Given the description of an element on the screen output the (x, y) to click on. 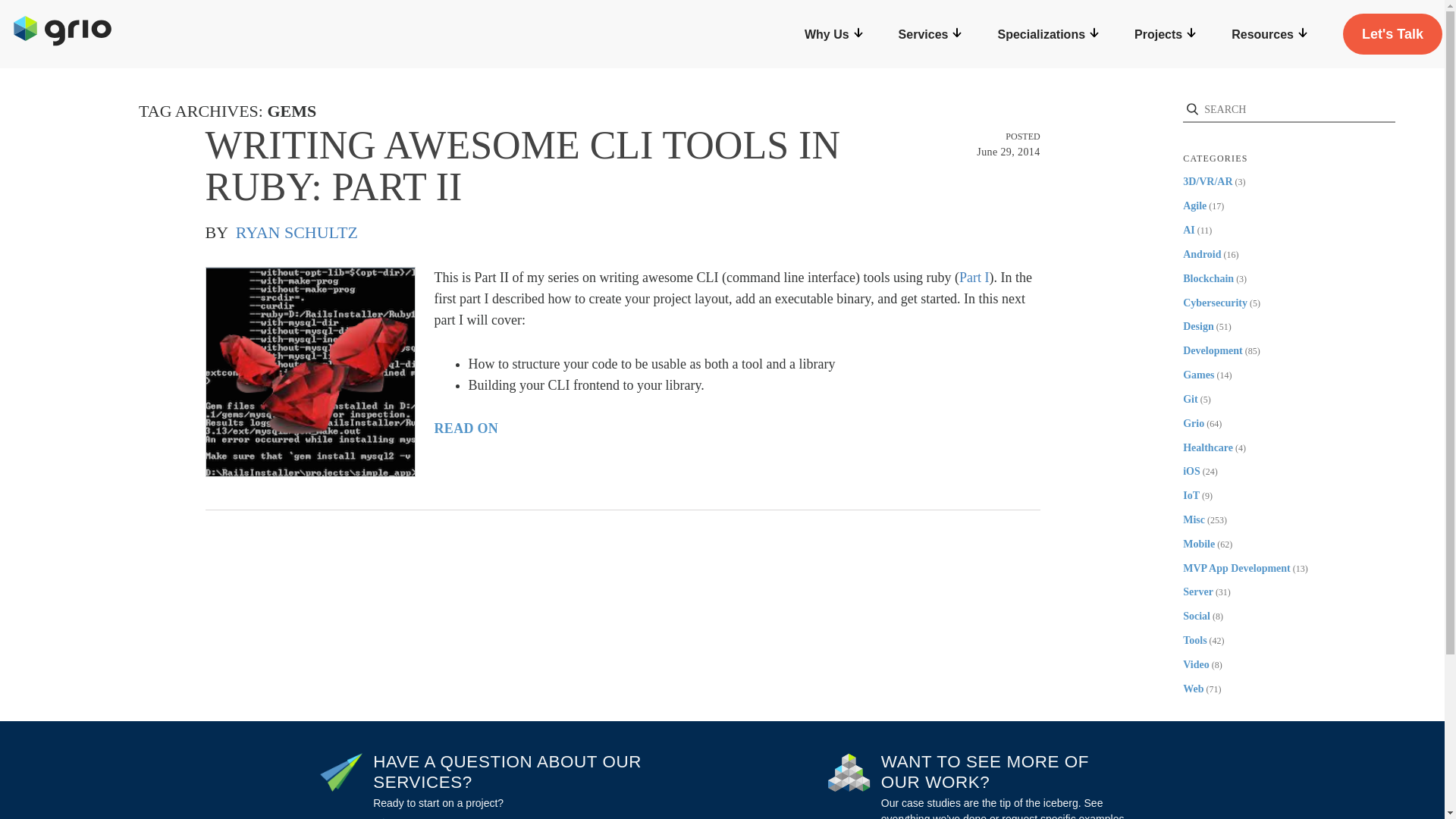
Why Us (834, 35)
Services (930, 35)
Specializations (1048, 35)
Permalink to Writing Awesome CLI Tools in Ruby: Part II (623, 166)
Resources (1269, 35)
View all posts by Ryan Schultz (296, 231)
Let's Talk (1392, 33)
Projects (1165, 35)
